Given the description of an element on the screen output the (x, y) to click on. 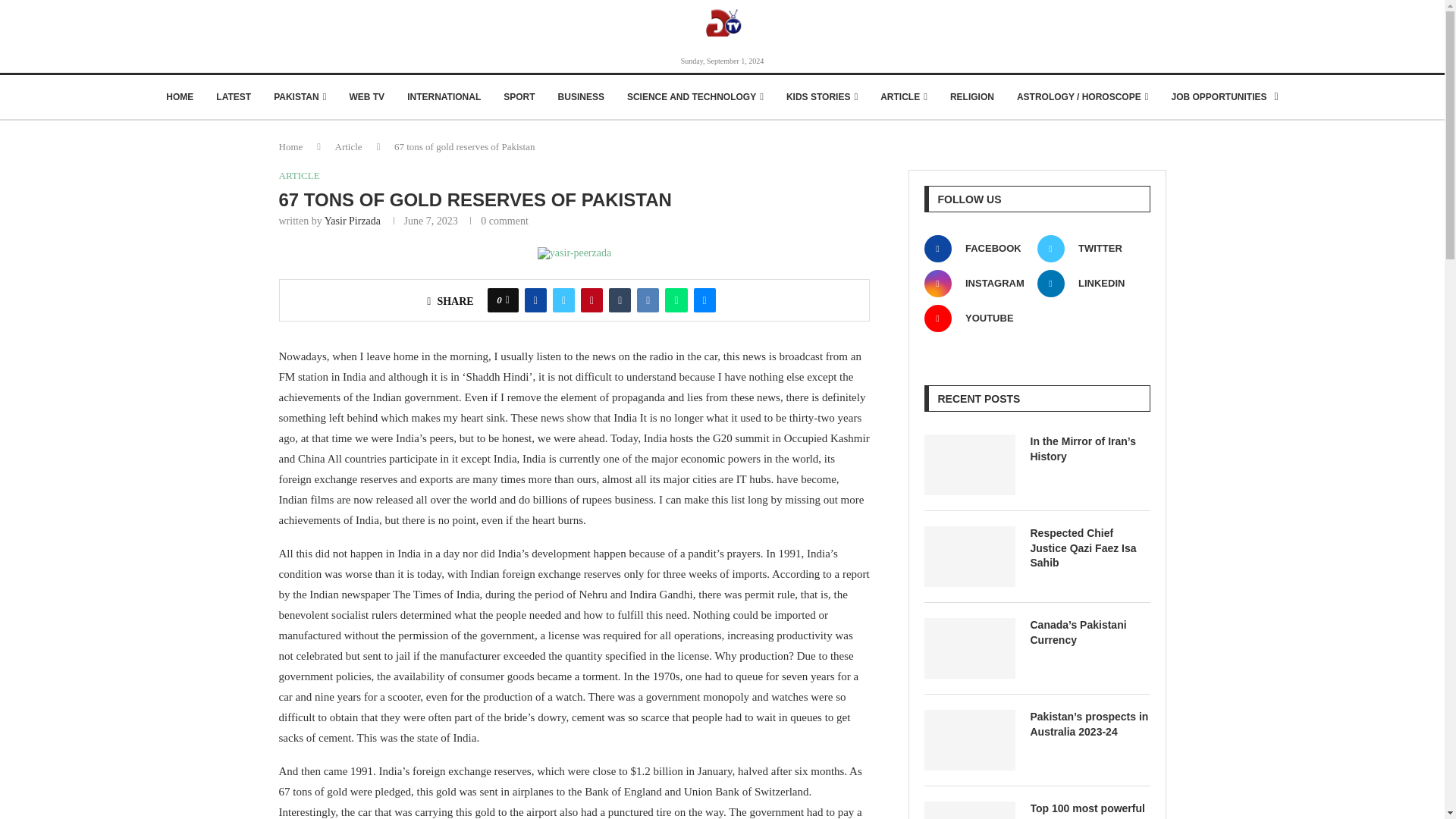
INTERNATIONAL (443, 96)
PAKISTAN (299, 96)
BUSINESS (580, 96)
ARTICLE (903, 96)
KIDS STORIES (821, 96)
yasir-peerzada (574, 253)
SCIENCE AND TECHNOLOGY (694, 96)
